Given the description of an element on the screen output the (x, y) to click on. 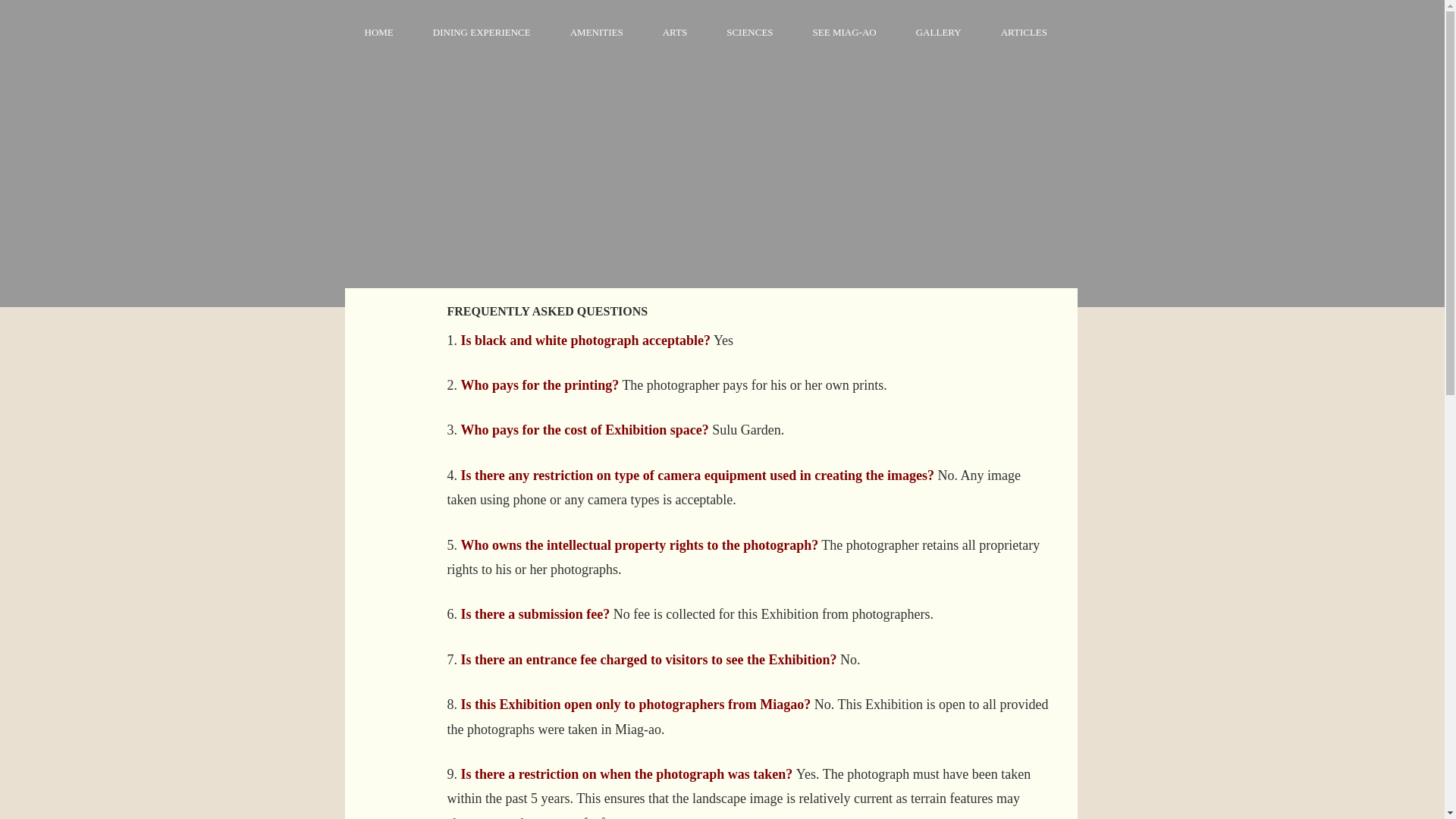
DINING EXPERIENCE (481, 33)
ARTS (674, 33)
SEE MIAG-AO (844, 33)
SCIENCES (749, 33)
AMENITIES (596, 33)
HOME (377, 33)
